Given the description of an element on the screen output the (x, y) to click on. 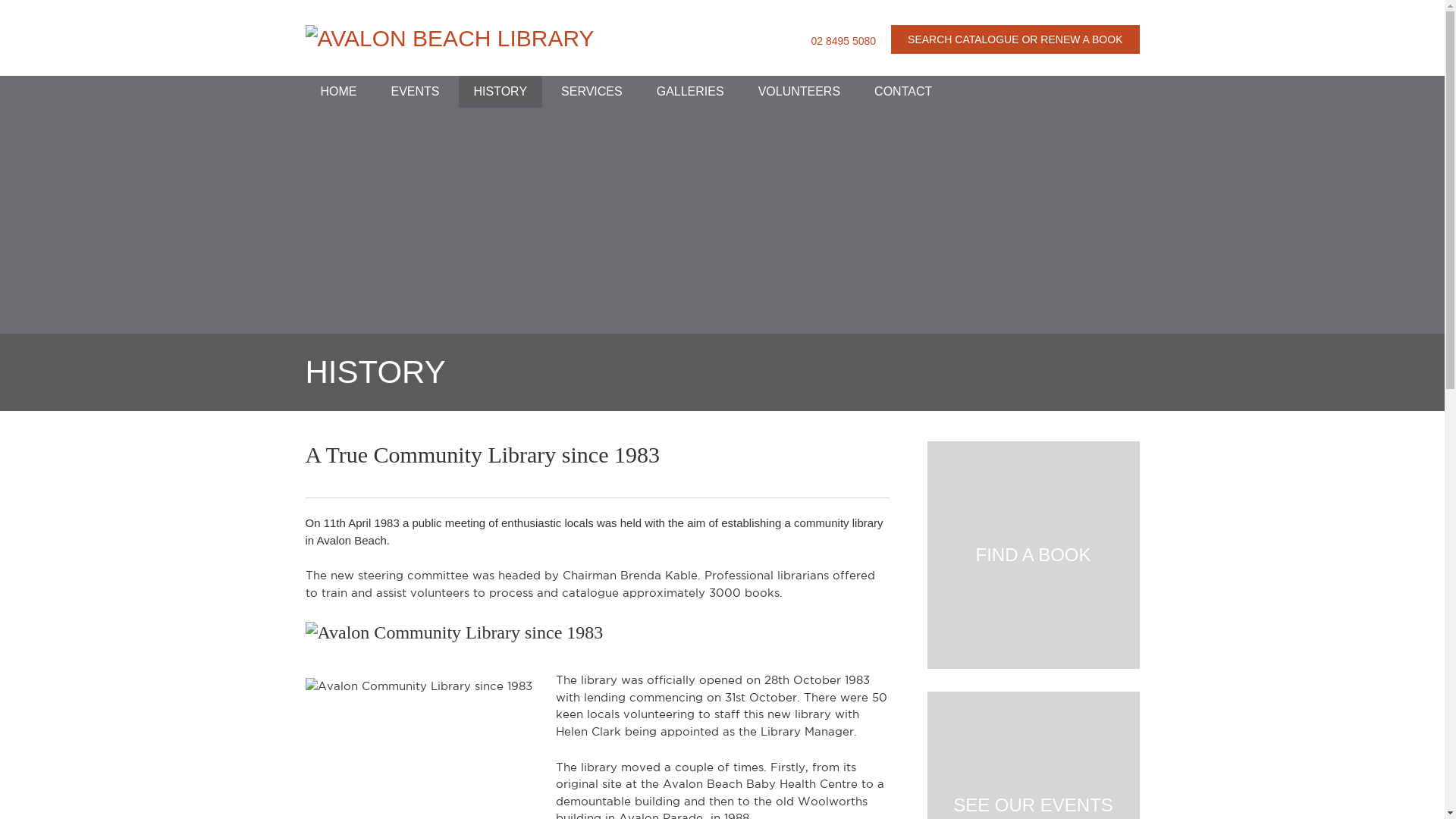
SERVICES Element type: text (591, 91)
CONTACT Element type: text (903, 91)
VOLUNTEERS Element type: text (799, 91)
FIND A BOOK Element type: text (1032, 554)
02 8495 5080 Element type: text (843, 41)
GALLERIES Element type: text (690, 91)
EVENTS Element type: text (415, 91)
HISTORY Element type: text (500, 91)
HOME Element type: text (337, 91)
SEARCH CATALOGUE OR RENEW A BOOK Element type: text (1015, 39)
